Given the description of an element on the screen output the (x, y) to click on. 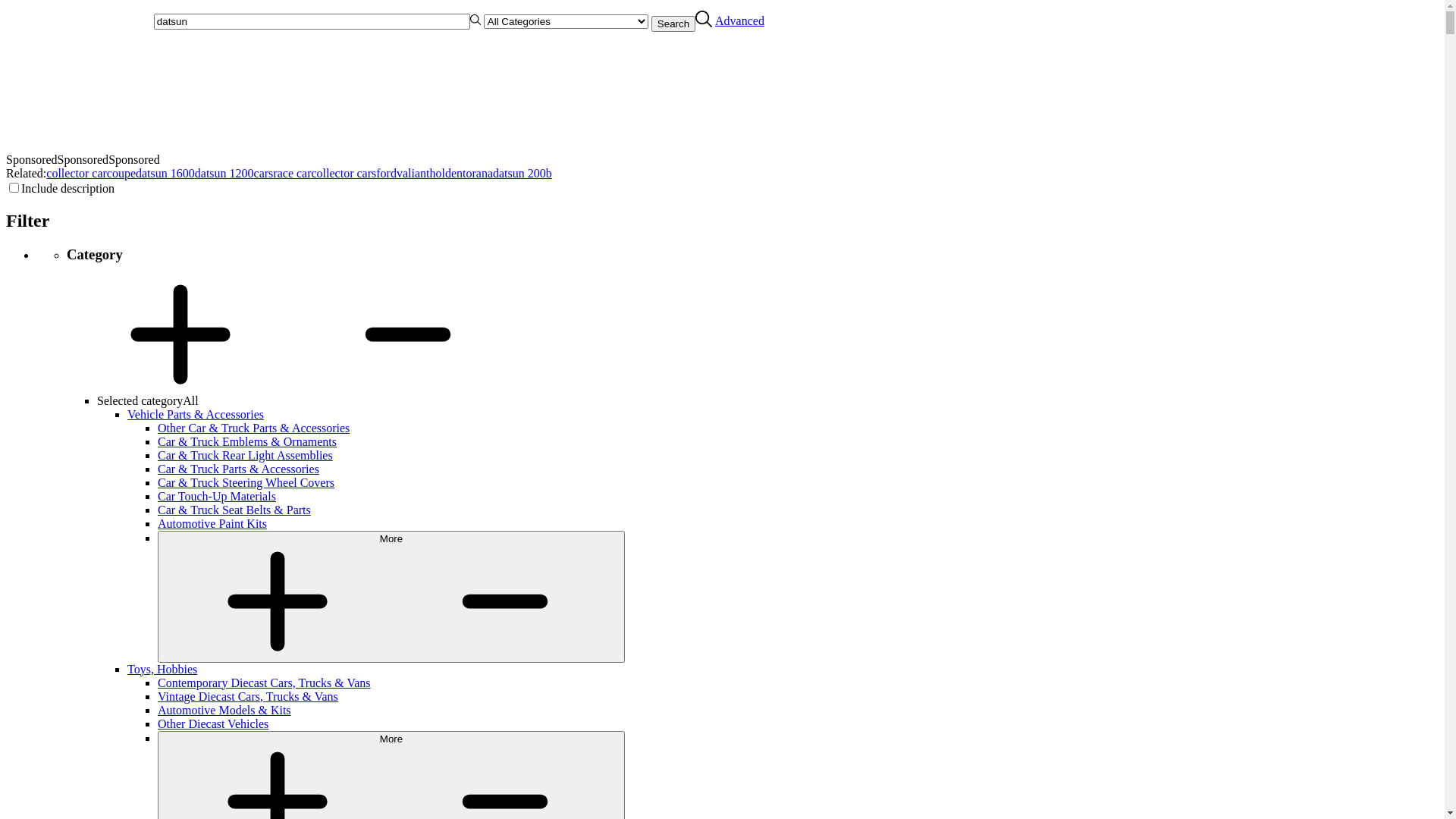
race car Element type: text (291, 172)
Car & Truck Steering Wheel Covers Element type: text (245, 482)
holden Element type: text (445, 172)
datsun 1200 Element type: text (224, 172)
Car Touch-Up Materials Element type: text (216, 495)
datsun 1600 Element type: text (164, 172)
Vintage Diecast Cars, Trucks & Vans Element type: text (247, 696)
Car & Truck Seat Belts & Parts Element type: text (233, 509)
Other Diecast Vehicles Element type: text (212, 723)
Automotive Paint Kits Element type: text (211, 523)
Car & Truck Rear Light Assemblies Element type: text (244, 454)
Contemporary Diecast Cars, Trucks & Vans Element type: text (263, 682)
Search Element type: text (673, 23)
torana Element type: text (477, 172)
cars Element type: text (263, 172)
Car & Truck Parts & Accessories Element type: text (238, 468)
Other Car & Truck Parts & Accessories Element type: text (253, 427)
More Element type: text (390, 596)
Automotive Models & Kits Element type: text (224, 709)
Advanced Element type: text (739, 20)
collector cars Element type: text (343, 172)
Vehicle Parts & Accessories Element type: text (195, 413)
datsun 200b Element type: text (522, 172)
coupe Element type: text (120, 172)
valiant Element type: text (412, 172)
ford Element type: text (386, 172)
Car & Truck Emblems & Ornaments Element type: text (246, 441)
collector car Element type: text (76, 172)
Toys, Hobbies Element type: text (162, 668)
